Given the description of an element on the screen output the (x, y) to click on. 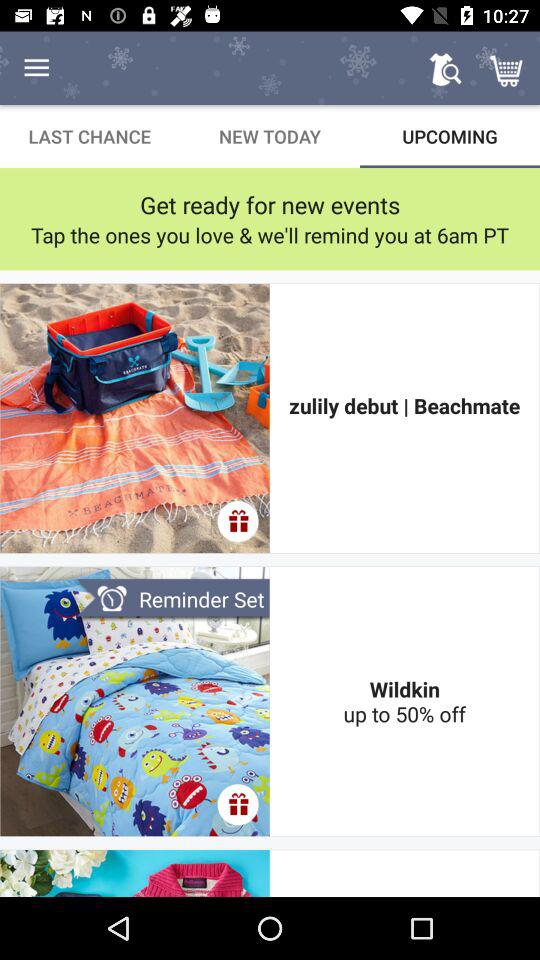
open the icon below the tap the ones item (404, 418)
